Given the description of an element on the screen output the (x, y) to click on. 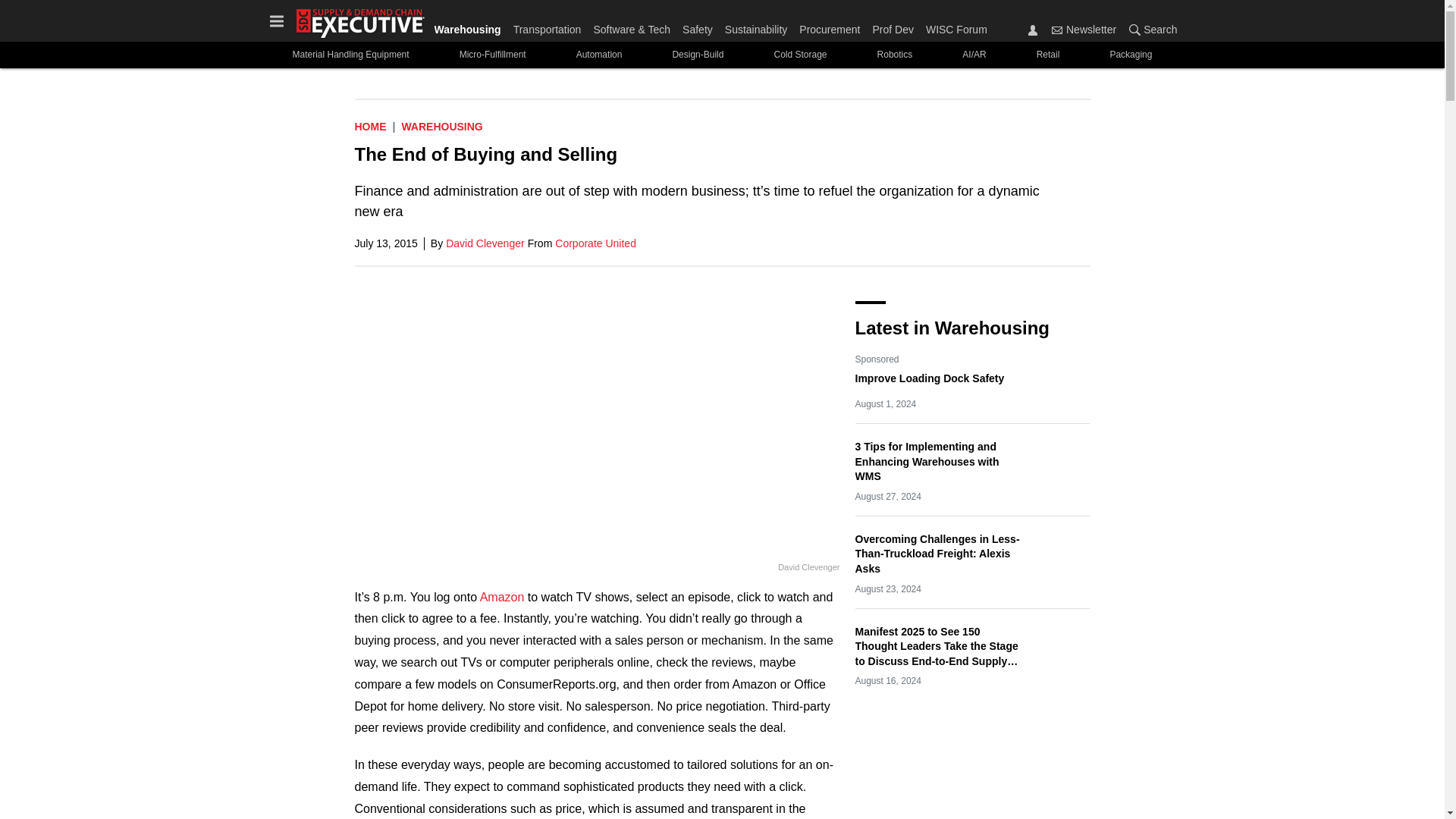
Sustainability (756, 26)
Search (1149, 29)
Prof Dev (892, 26)
Newsletter (1083, 29)
Newsletter (1056, 29)
Sponsored (877, 359)
Cold Storage (799, 54)
Warehousing (441, 126)
WISC Forum (953, 26)
Retail (1047, 54)
